Given the description of an element on the screen output the (x, y) to click on. 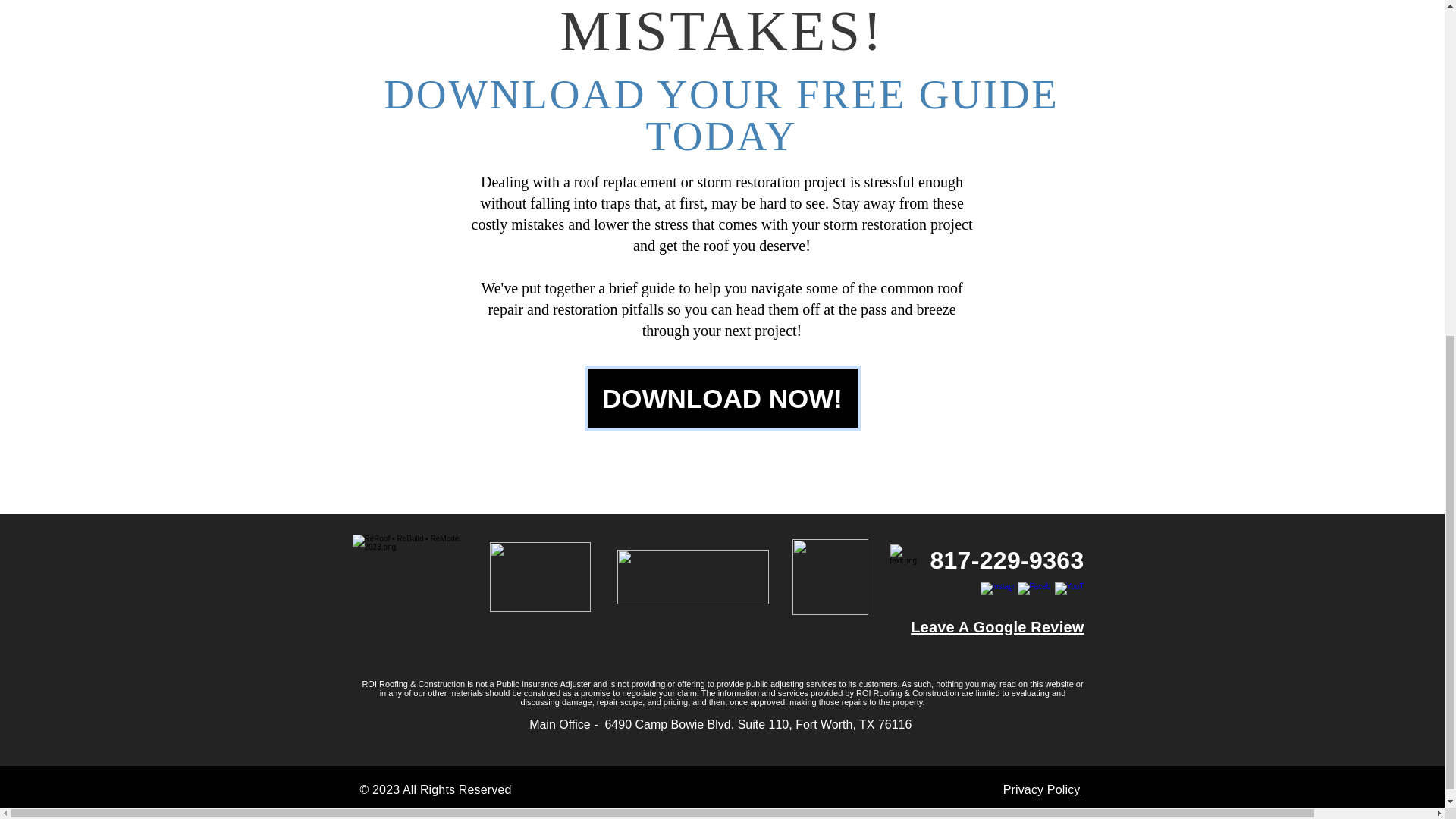
DOWNLOAD NOW! (721, 397)
Leave A Google Review (997, 627)
Privacy Policy (1041, 789)
